Given the description of an element on the screen output the (x, y) to click on. 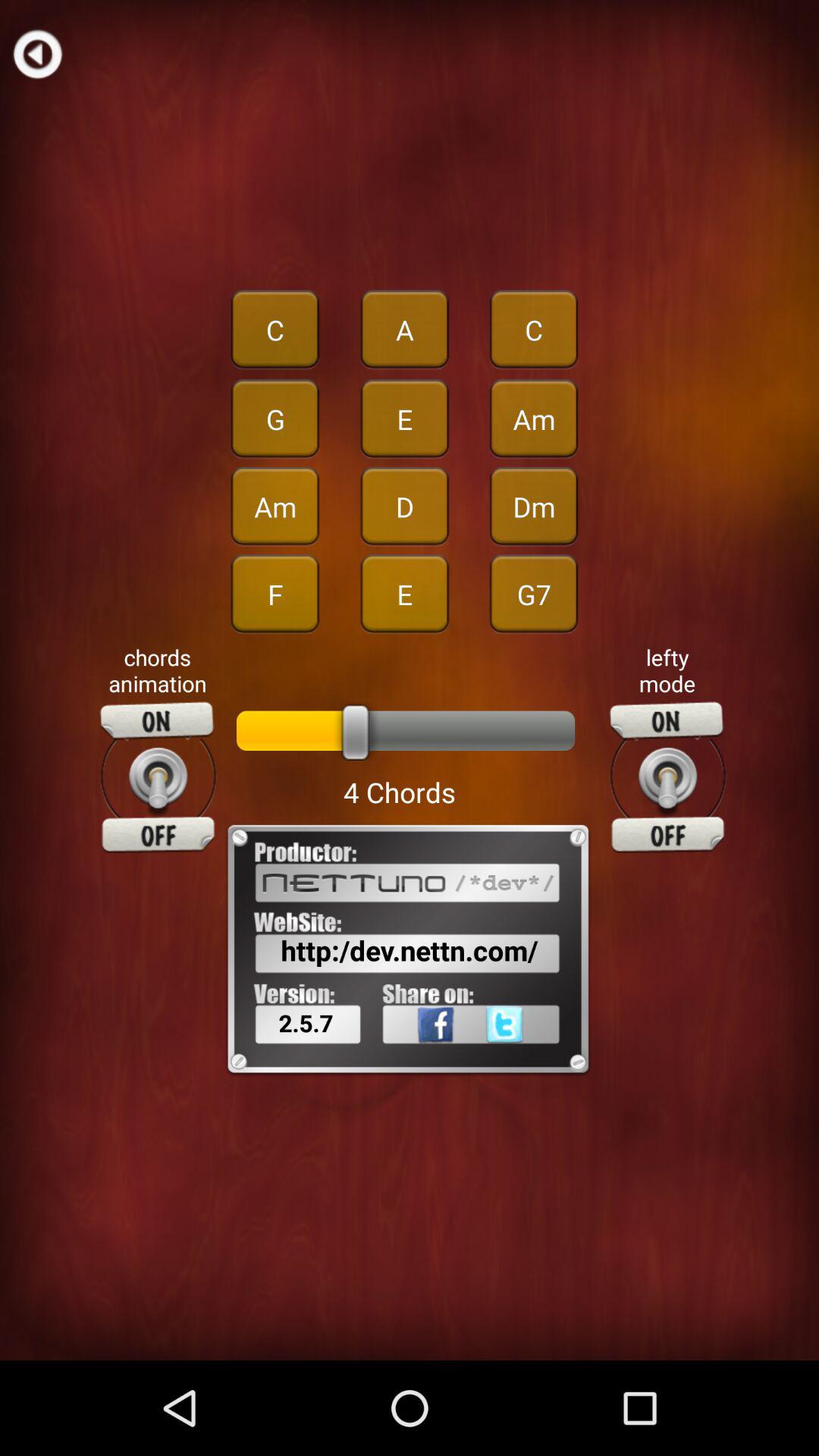
turn on icon to the right of the 2.5.7 icon (528, 1057)
